Given the description of an element on the screen output the (x, y) to click on. 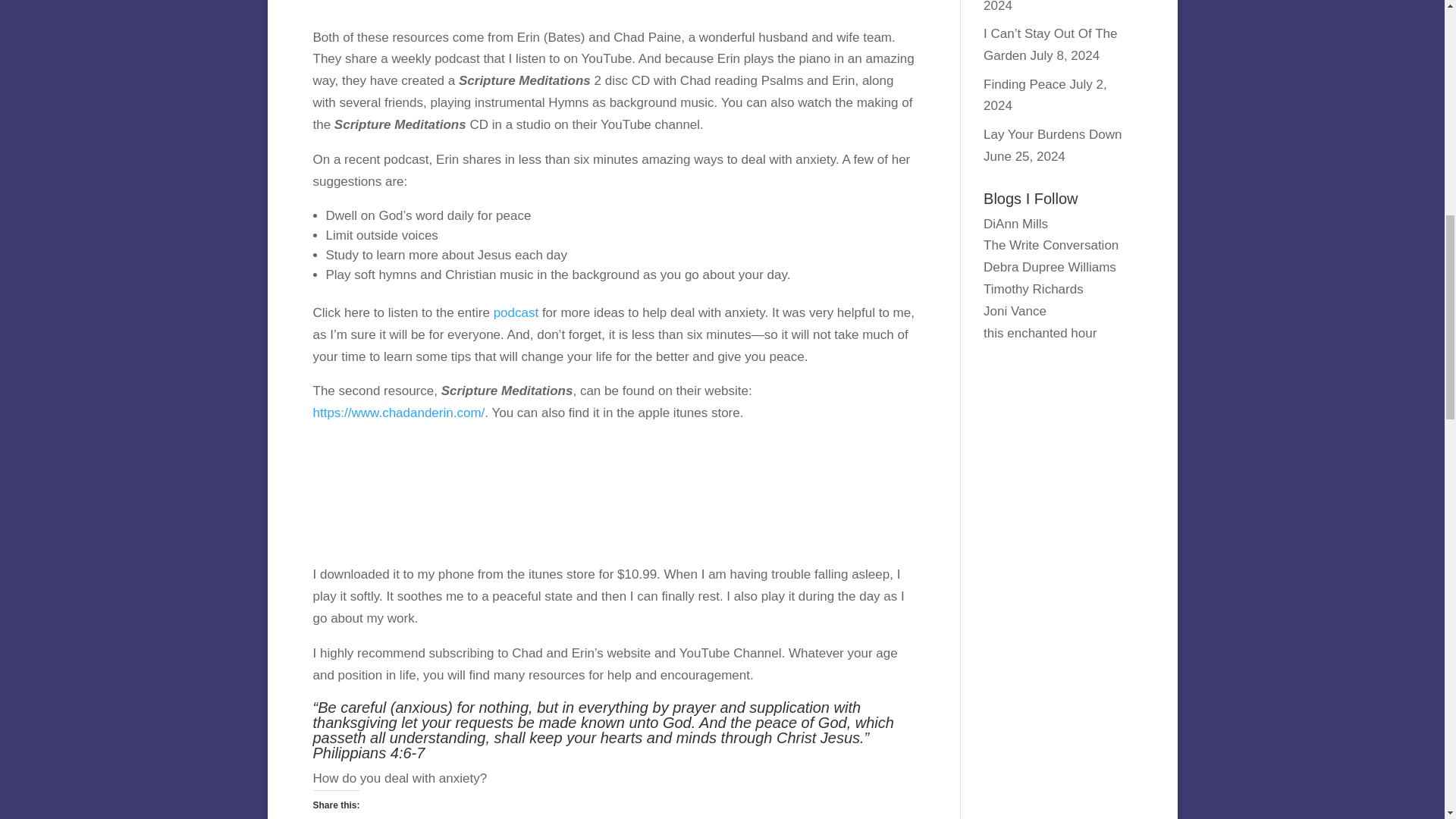
podcast (513, 312)
Scripture Meditations with Chad (426, 494)
DiAnn Mills (1016, 223)
Finding Peace (1024, 83)
The Write Conversation (1051, 245)
Lay Your Burdens Down (1052, 134)
Debra Dupree Williams (1050, 267)
